Given the description of an element on the screen output the (x, y) to click on. 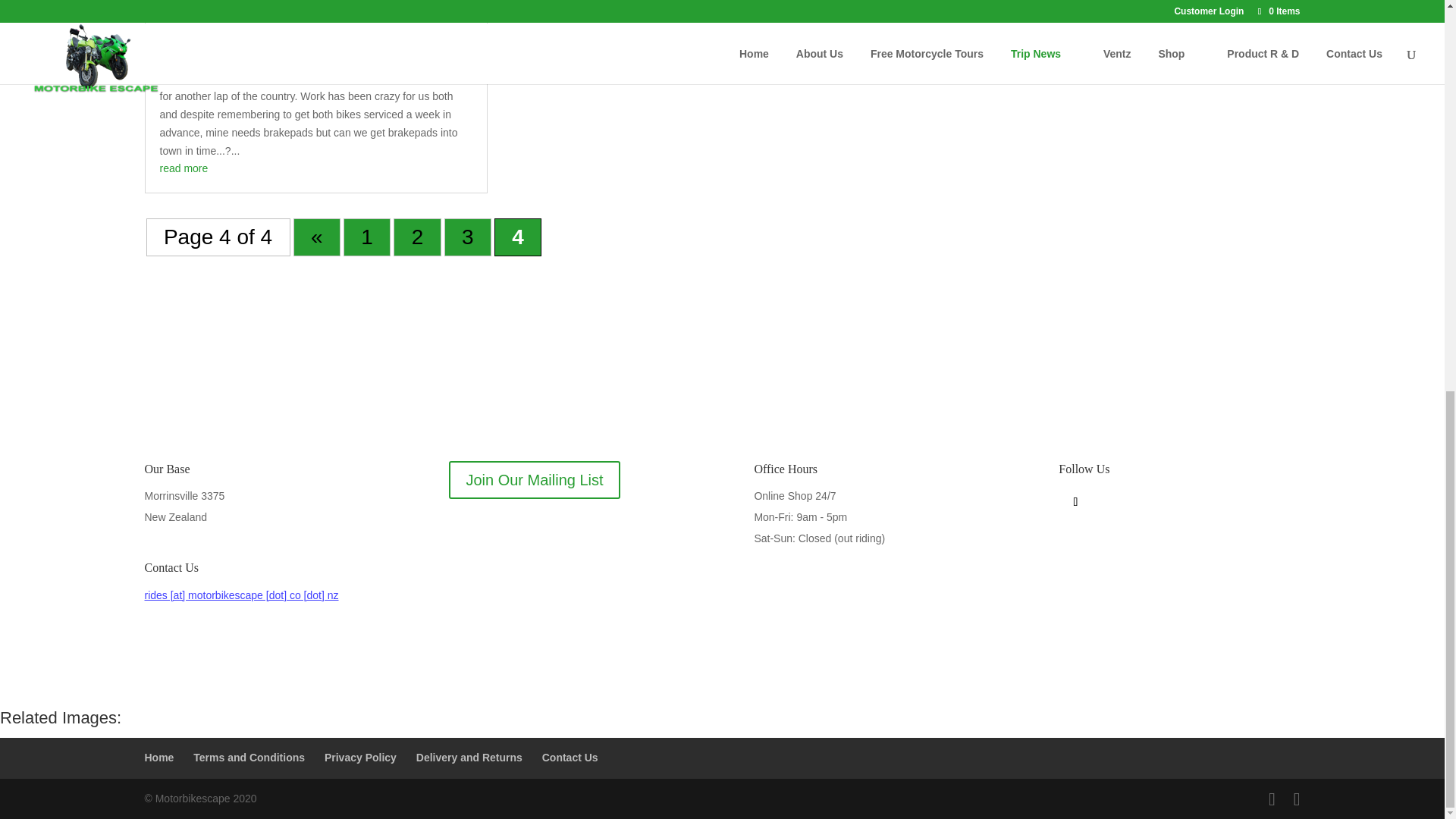
Follow on Facebook (1075, 501)
Posts by motorbikescape (210, 55)
Trips (331, 55)
motorbikescape (210, 55)
Iconic NZ (187, 32)
Page 2 (417, 237)
read more (183, 168)
Page 3 (468, 237)
Page 1 (366, 237)
